Given the description of an element on the screen output the (x, y) to click on. 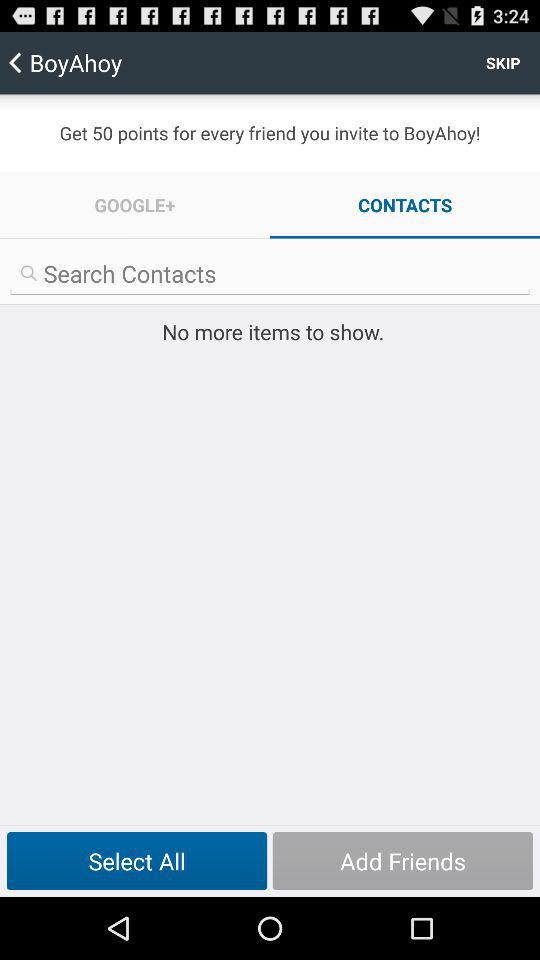
search contacts (269, 274)
